Given the description of an element on the screen output the (x, y) to click on. 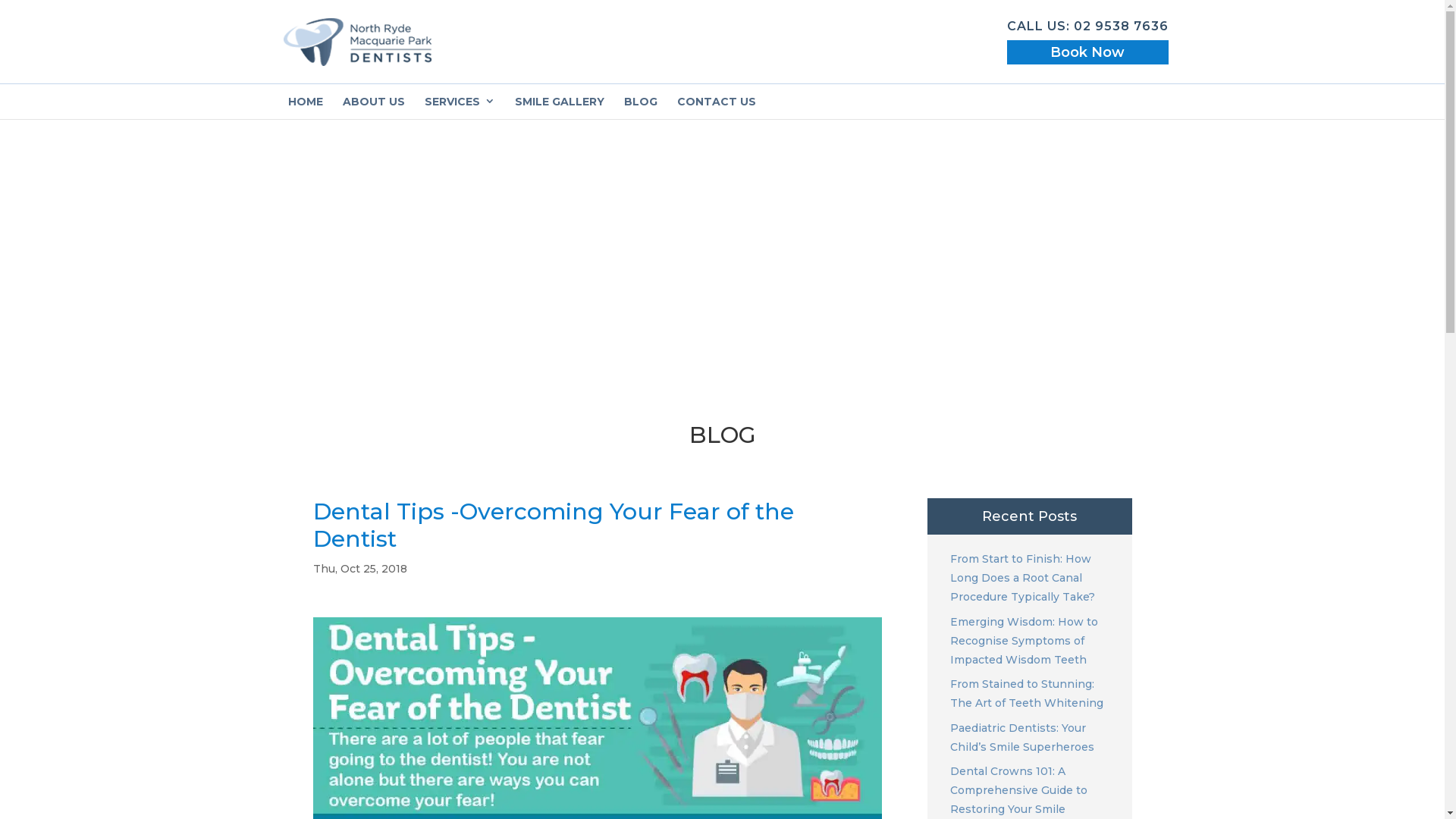
From Stained to Stunning: The Art of Teeth Whitening Element type: text (1032, 693)
ABOUT US Element type: text (373, 101)
SERVICES Element type: text (459, 101)
HOME Element type: text (305, 101)
CONTACT US Element type: text (716, 101)
CALL US: 02 9538 7636 Element type: text (1087, 30)
BLOG Element type: text (640, 101)
Book Now Element type: text (1087, 43)
SMILE GALLERY Element type: text (559, 101)
